Given the description of an element on the screen output the (x, y) to click on. 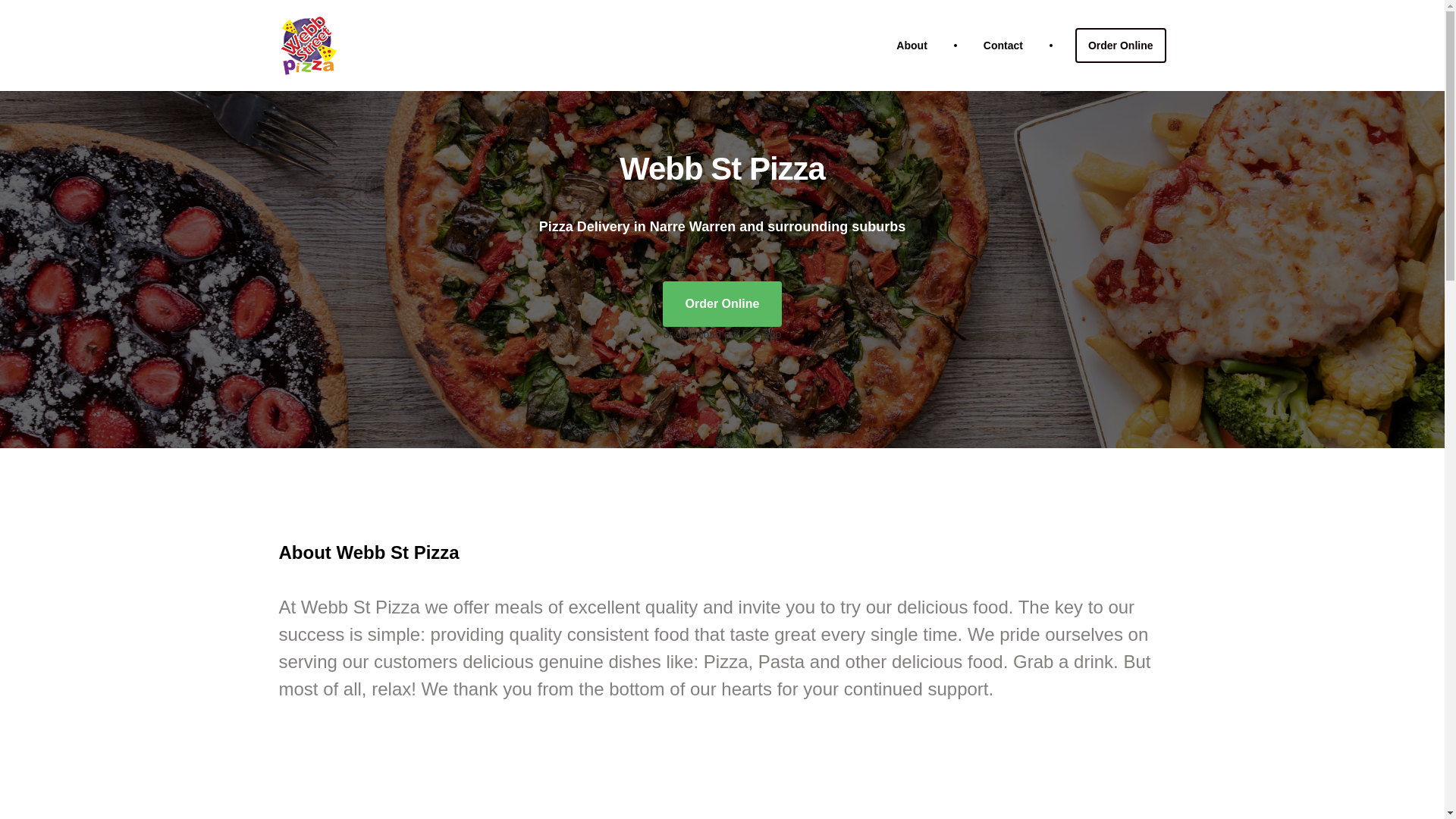
Order Online (1120, 45)
Order Online (722, 303)
Contact (1003, 45)
About (911, 45)
